Given the description of an element on the screen output the (x, y) to click on. 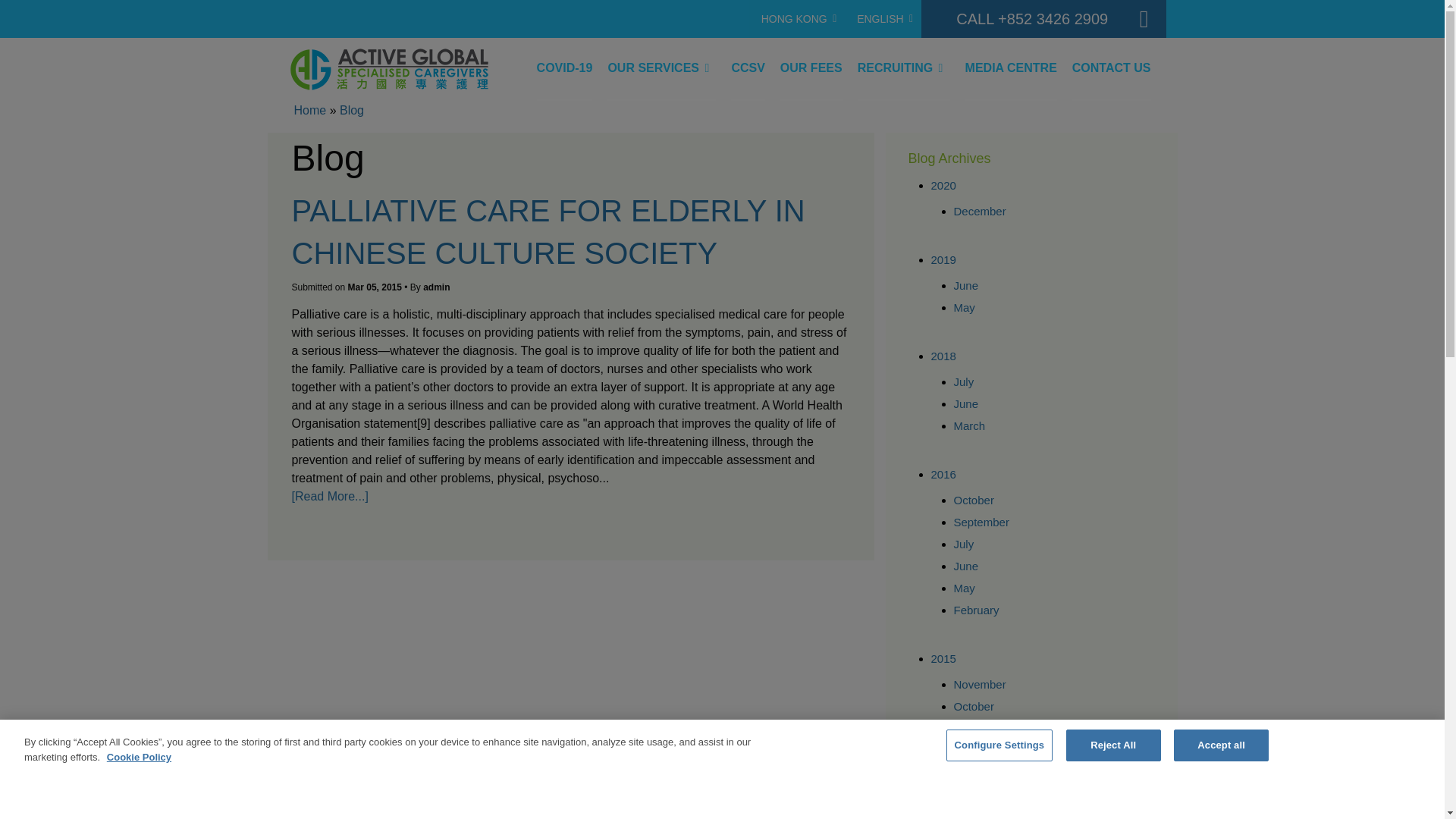
ENGLISH (882, 18)
OUR SERVICES (661, 68)
COVID-19 (564, 68)
HONG KONG (796, 18)
